Given the description of an element on the screen output the (x, y) to click on. 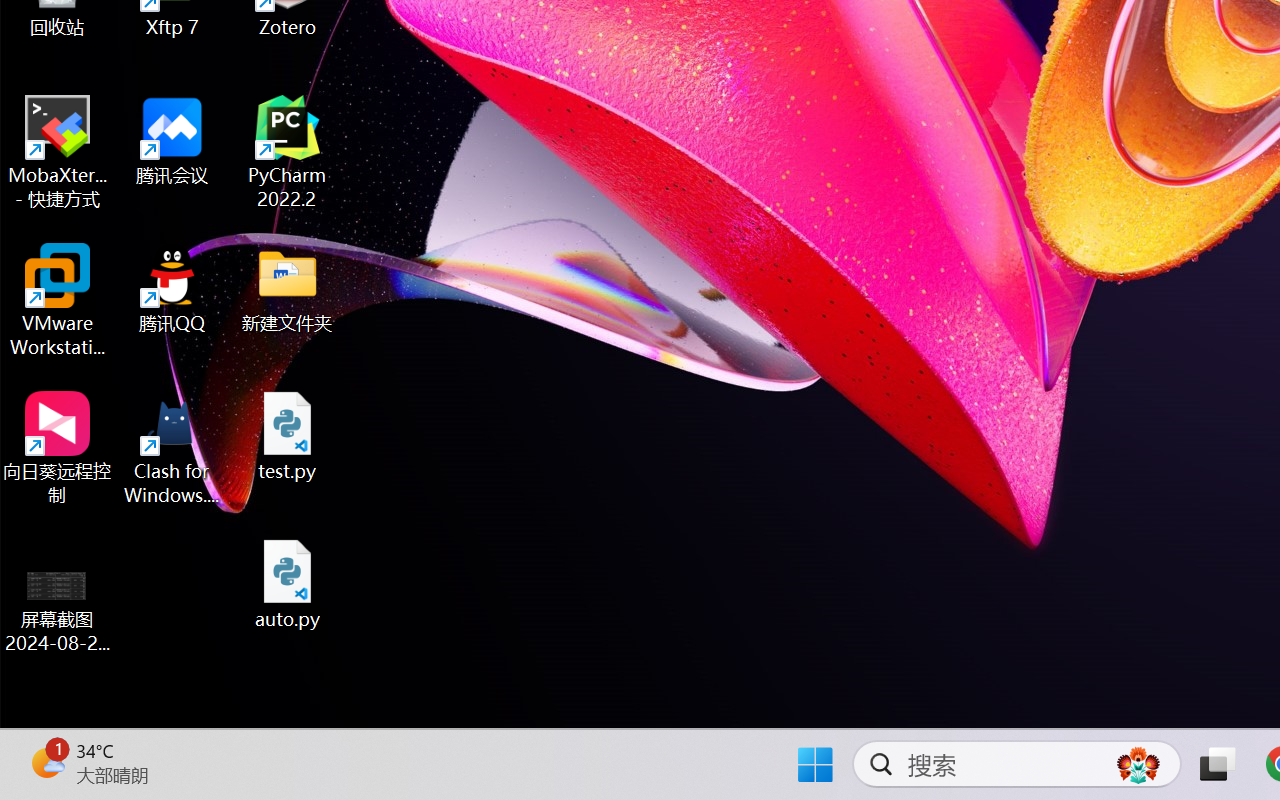
test.py (287, 436)
VMware Workstation Pro (57, 300)
PyCharm 2022.2 (287, 152)
auto.py (287, 584)
